Given the description of an element on the screen output the (x, y) to click on. 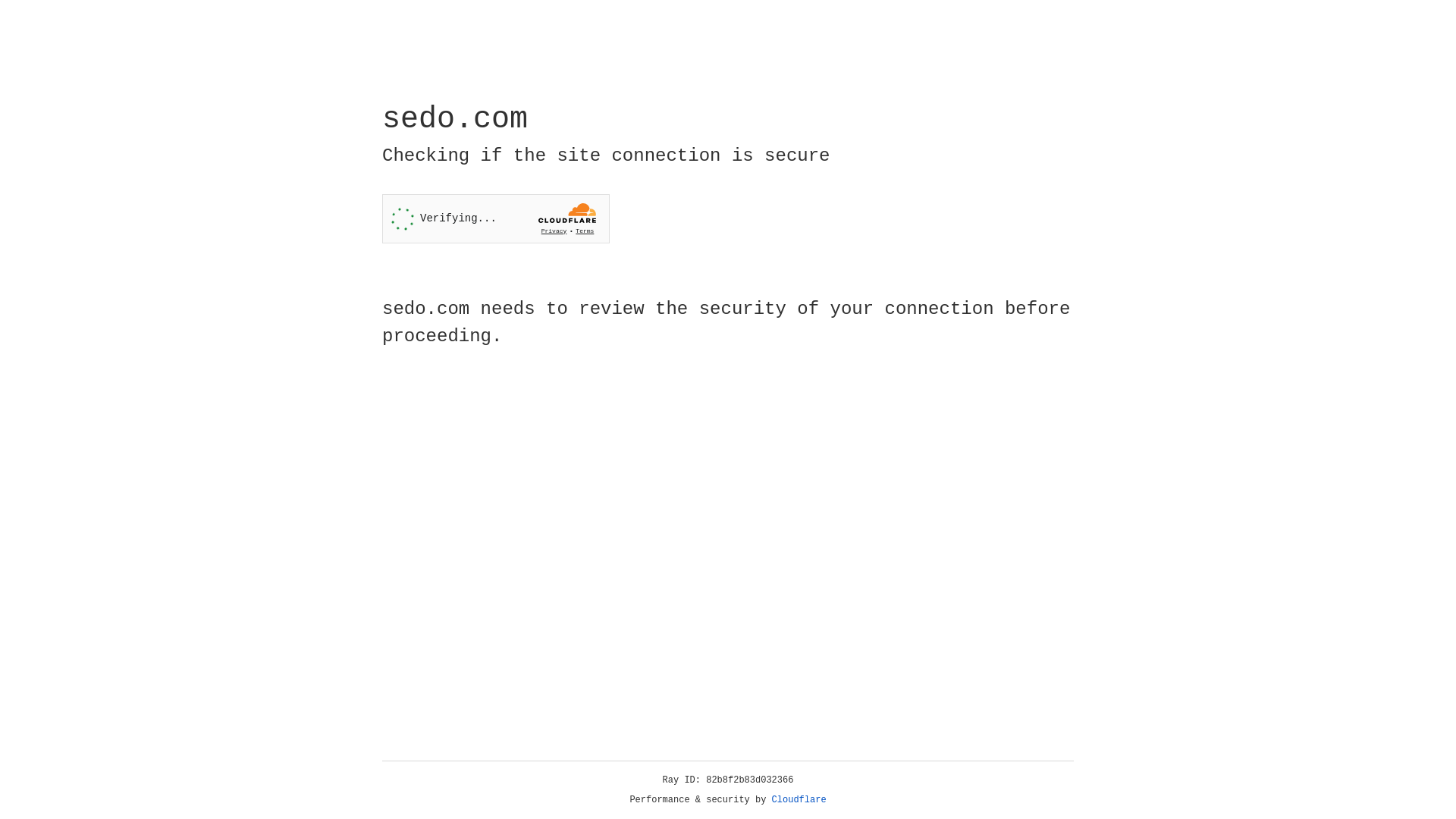
Widget containing a Cloudflare security challenge Element type: hover (495, 218)
Cloudflare Element type: text (798, 799)
